Given the description of an element on the screen output the (x, y) to click on. 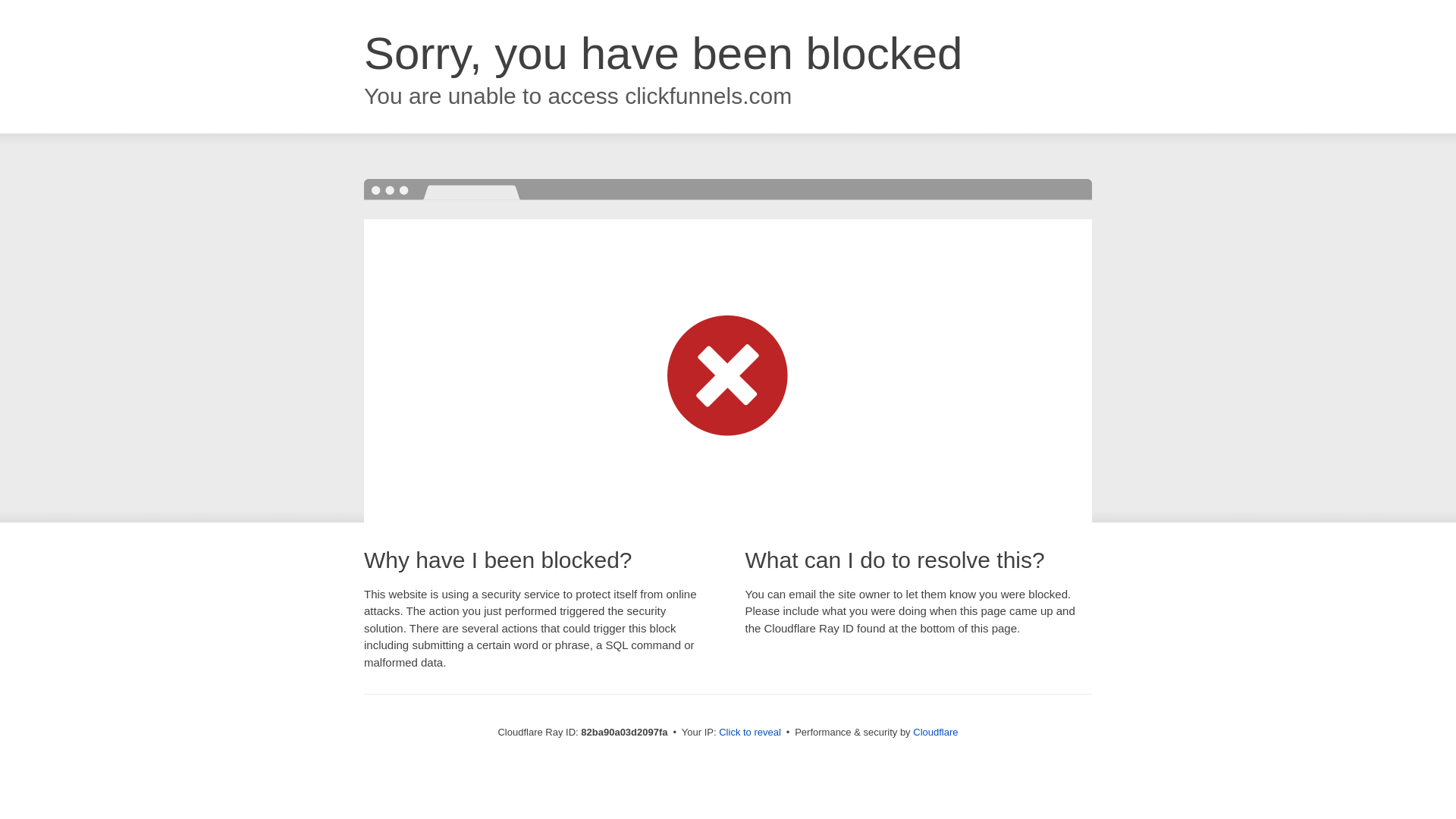
Click to reveal Element type: text (749, 732)
Cloudflare Element type: text (935, 731)
